Given the description of an element on the screen output the (x, y) to click on. 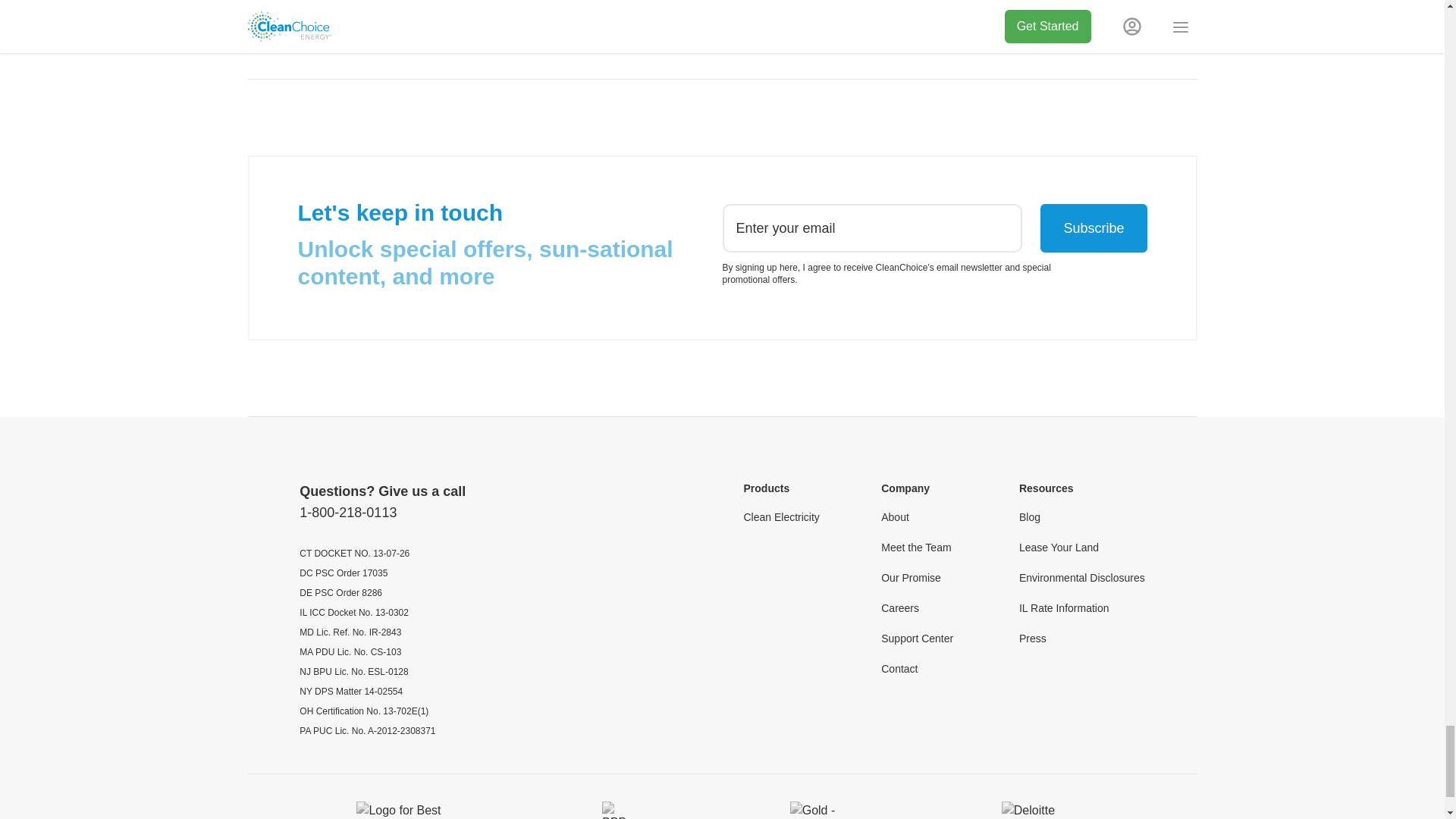
IL Rate Information (1064, 607)
Careers (899, 607)
1-800-218-0113 (347, 512)
Blog (1030, 516)
Contact (898, 668)
Our Promise (910, 577)
Meet the Team (915, 547)
About (894, 516)
Support Center (916, 638)
Environmental Disclosures (1081, 577)
Subscribe (1094, 227)
Clean Electricity (780, 516)
Press (1032, 638)
About us (722, 1)
Lease Your Land (1059, 547)
